Given the description of an element on the screen output the (x, y) to click on. 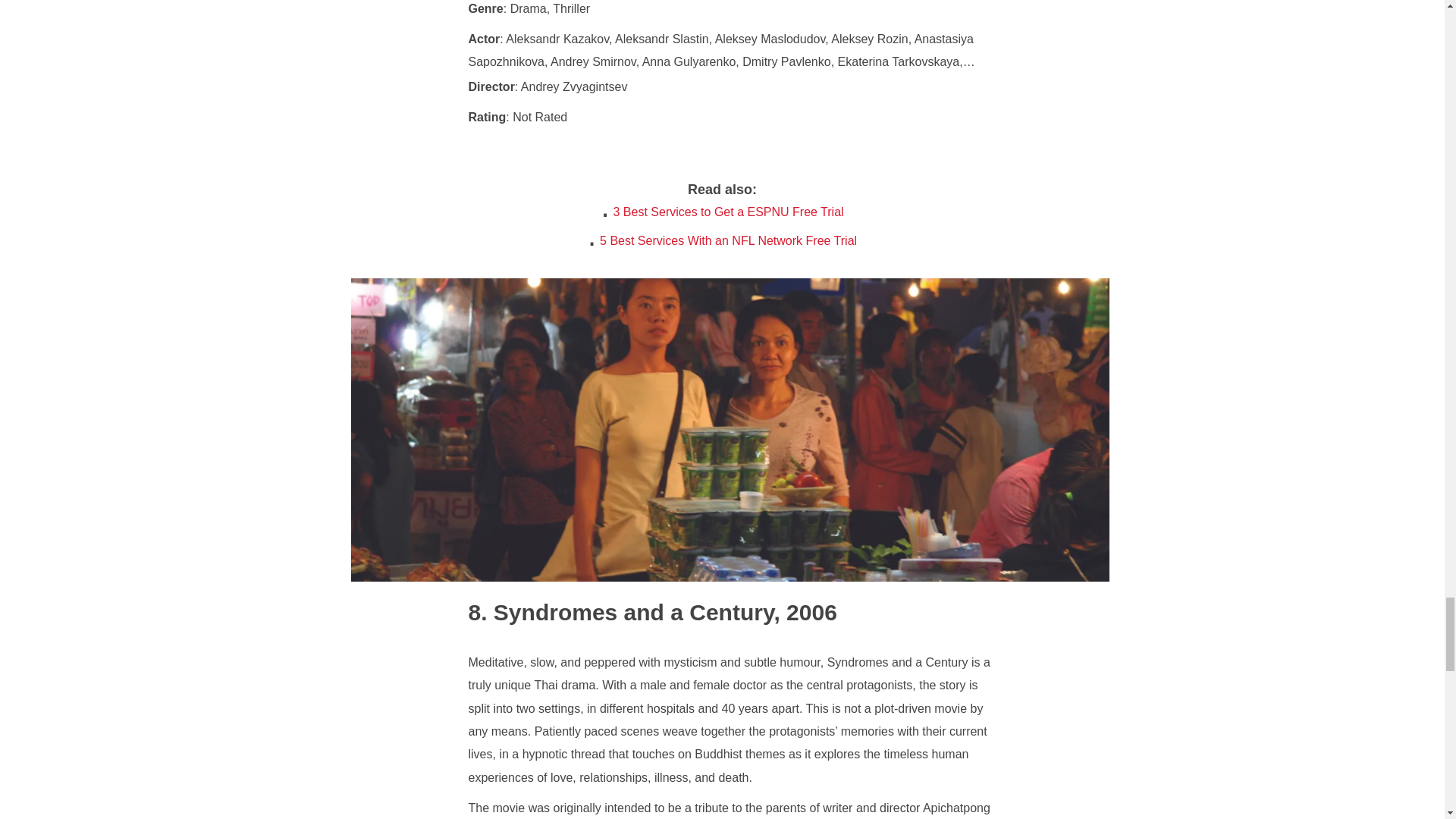
Syndromes and a Century (621, 611)
